Given the description of an element on the screen output the (x, y) to click on. 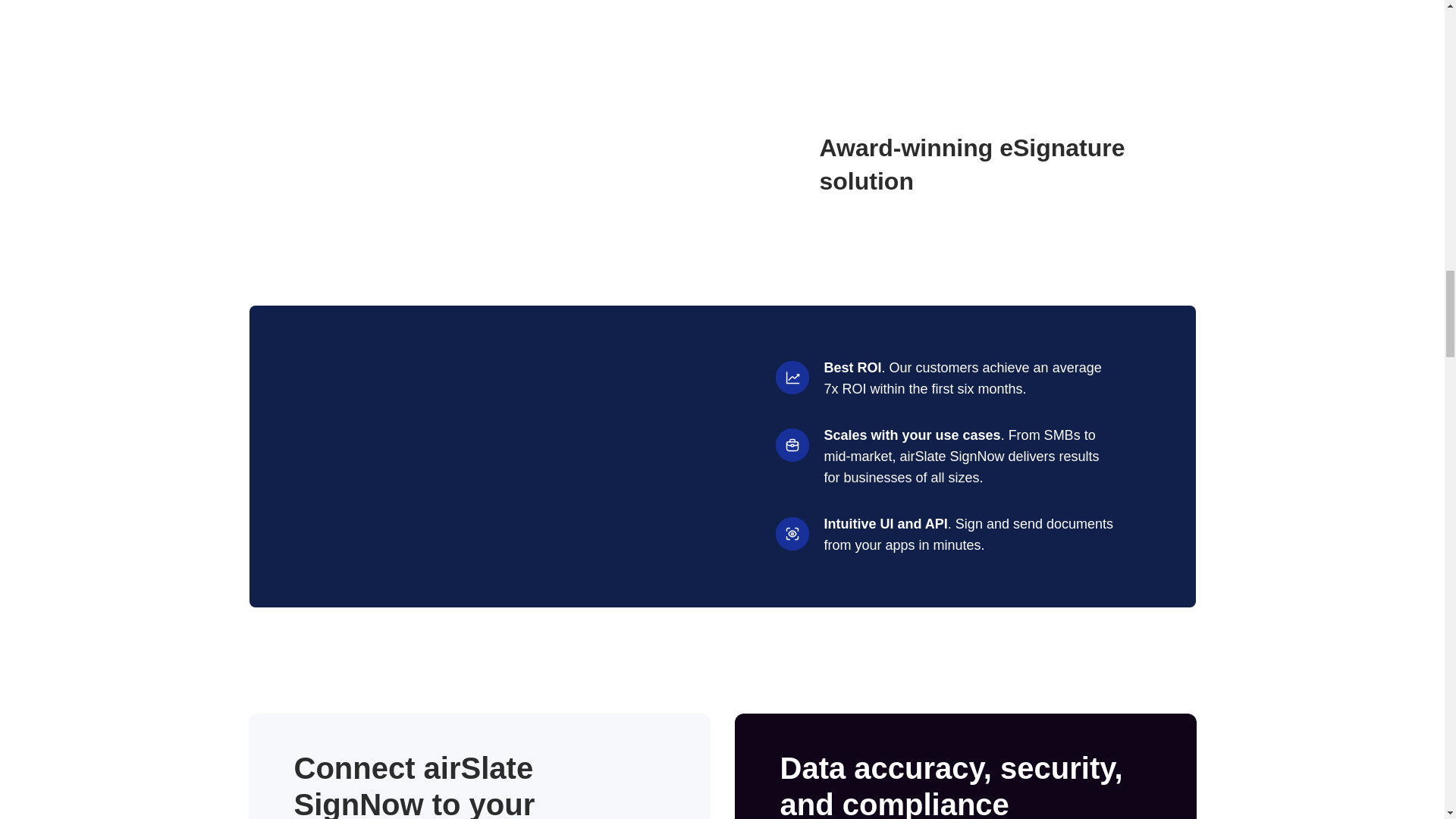
Mid Market Summer 2024 (292, 164)
Best Support Summer 2024 (425, 164)
Small Business Summer 2024 (690, 164)
Leader Summer 2024 (558, 164)
